Given the description of an element on the screen output the (x, y) to click on. 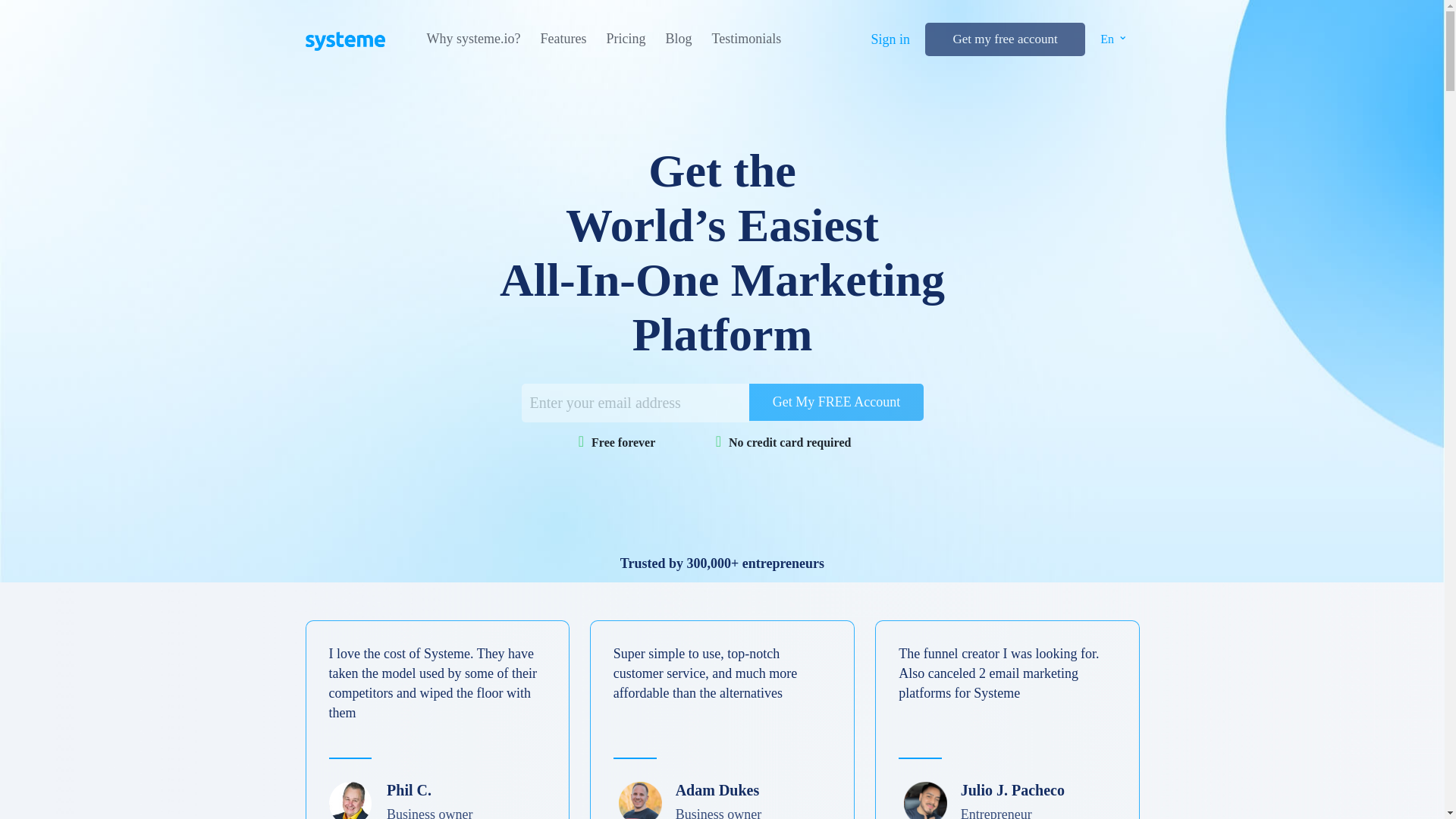
Sign in (890, 39)
Testimonials (745, 38)
Blog (678, 38)
Get my free account (1004, 39)
Why systeme.io? (472, 38)
Features (563, 38)
Pricing (625, 38)
